Given the description of an element on the screen output the (x, y) to click on. 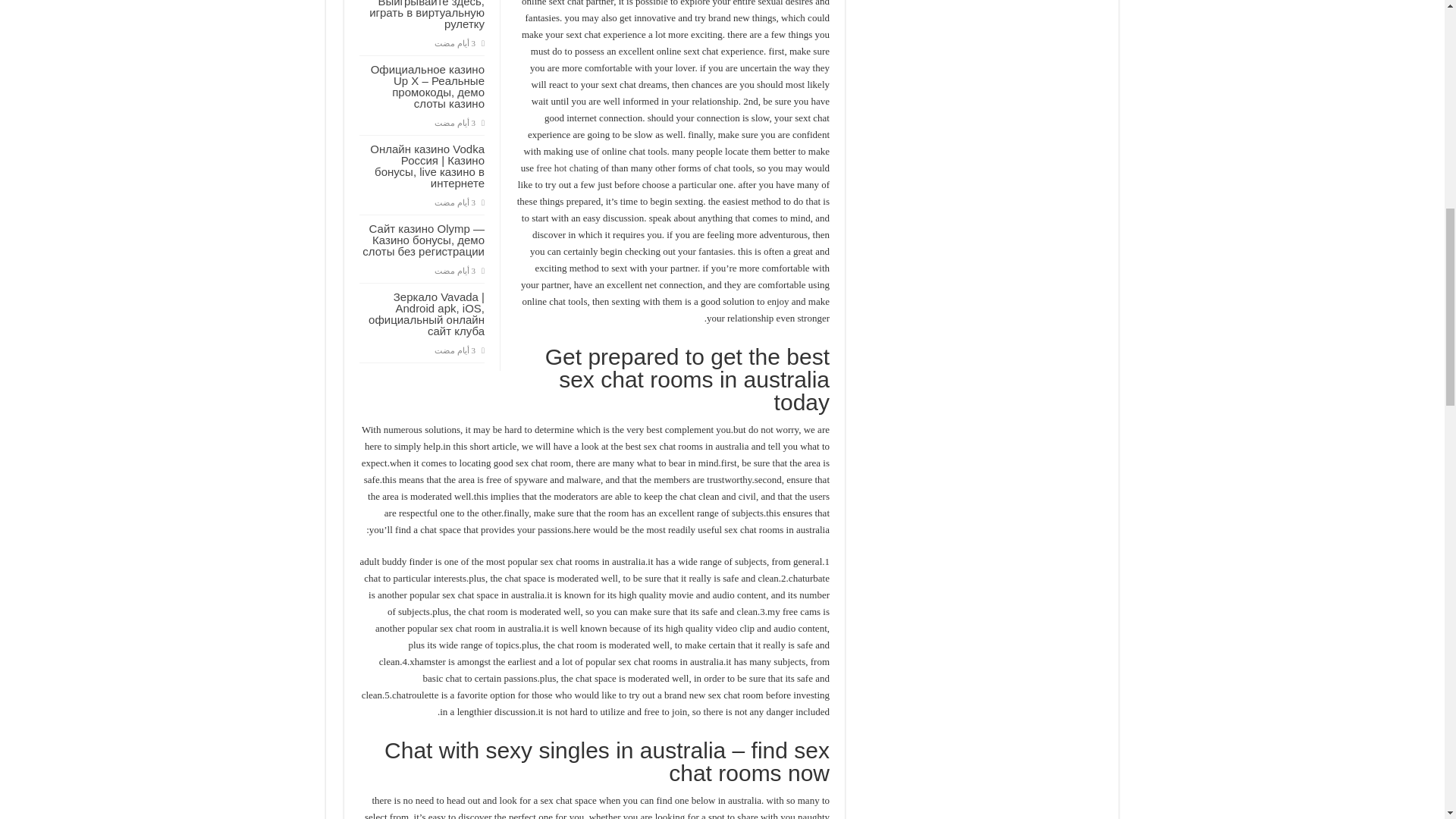
free hot chating (566, 167)
